Given the description of an element on the screen output the (x, y) to click on. 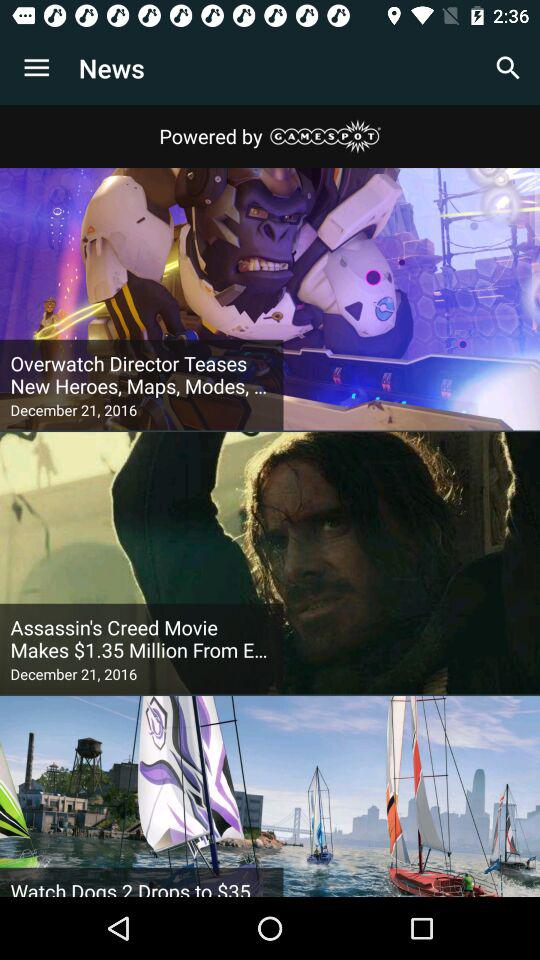
jump until the assassin s creed item (141, 639)
